Given the description of an element on the screen output the (x, y) to click on. 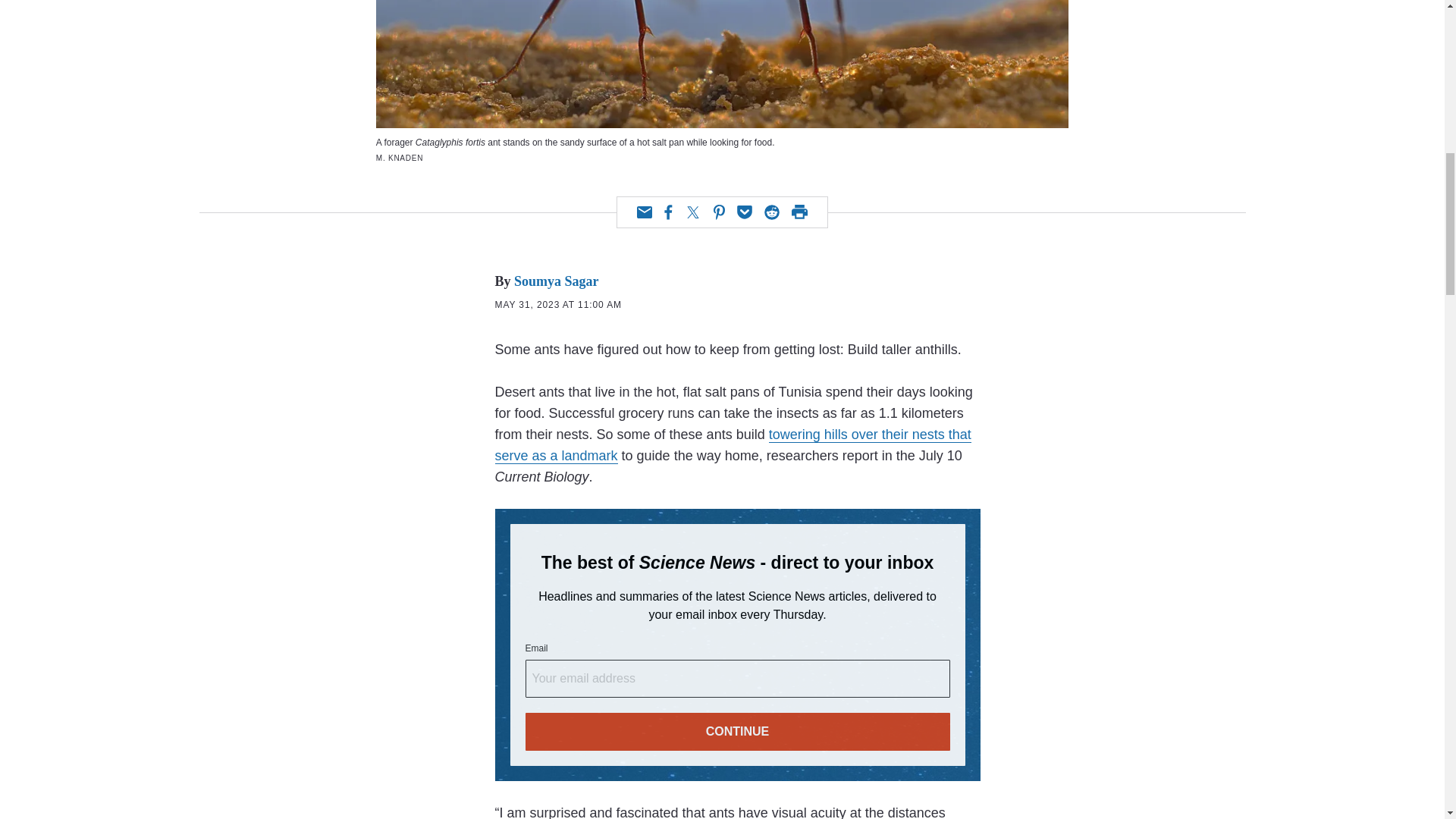
Share via email (644, 212)
